Given the description of an element on the screen output the (x, y) to click on. 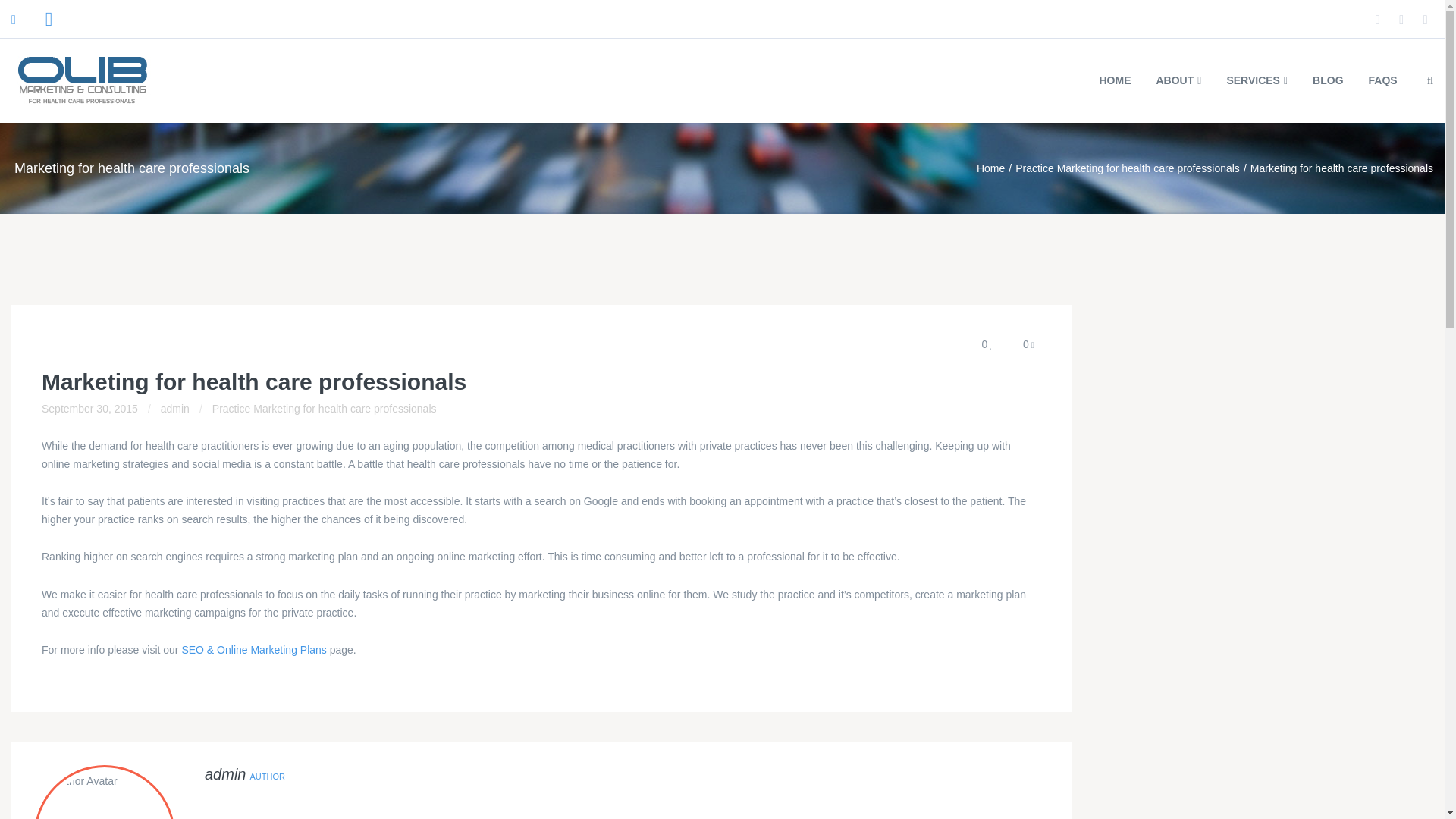
Practice Marketing for health care professionals (1127, 168)
Home (990, 168)
Posts by admin (225, 773)
admin (174, 408)
admin (225, 773)
Practice Marketing for health care professionals (324, 408)
Posts by admin (174, 408)
Practice Marketing for health care professionals (1127, 168)
Logo (82, 79)
SERVICES (1256, 80)
